Given the description of an element on the screen output the (x, y) to click on. 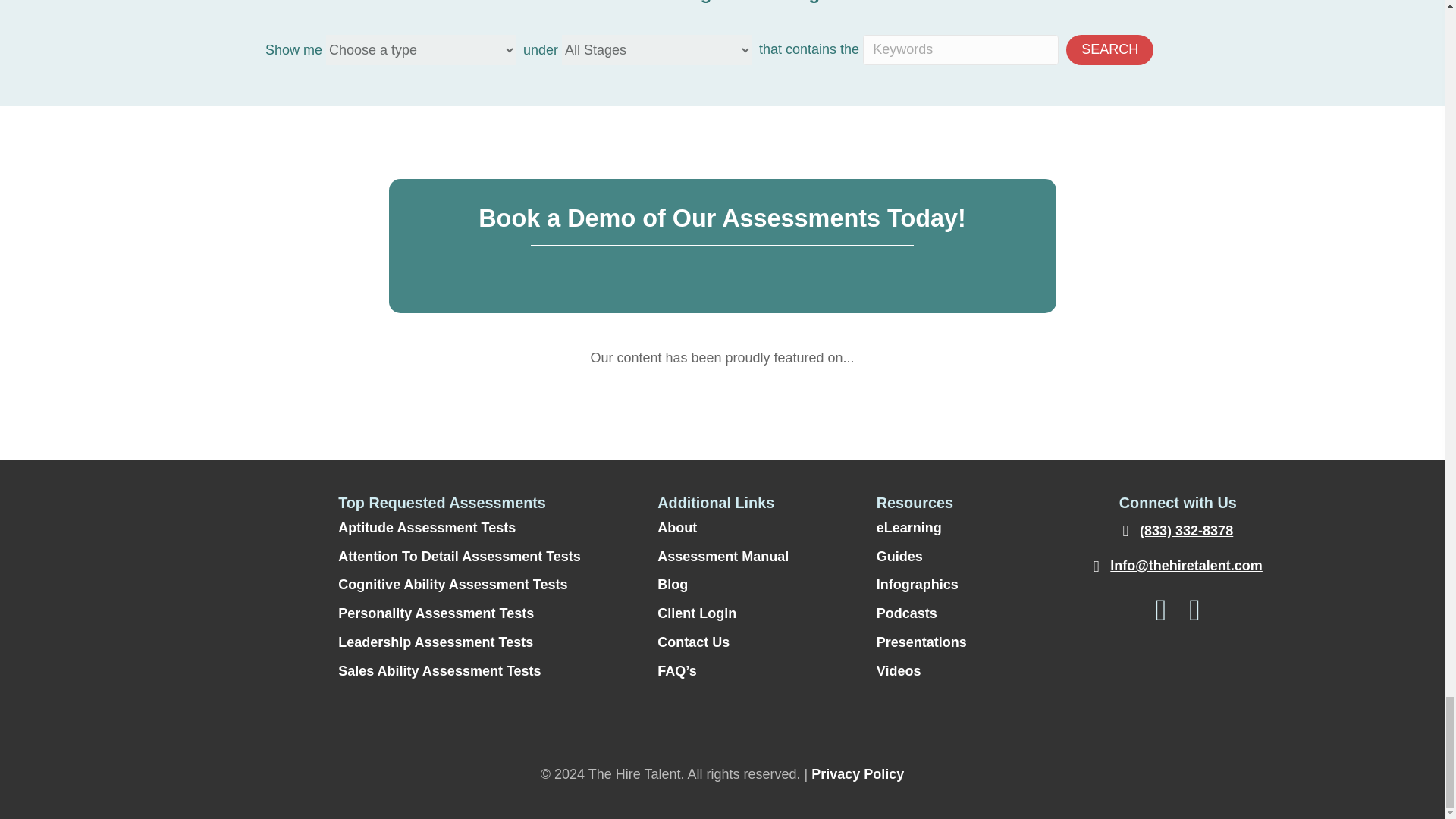
Featured Logos (722, 406)
icon (216, 547)
Search (1109, 50)
